Given the description of an element on the screen output the (x, y) to click on. 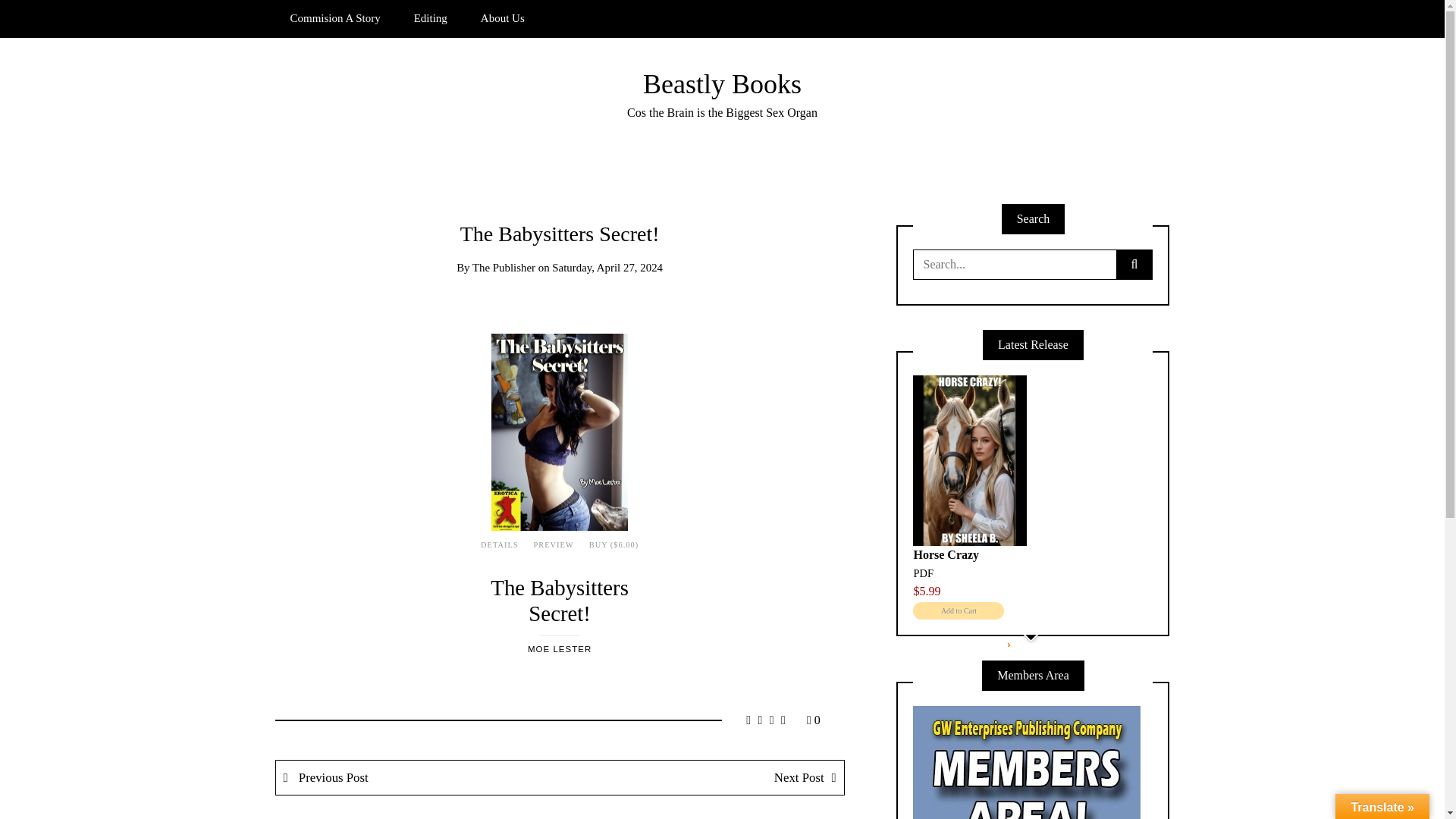
Saturday, April 27, 2024 (606, 267)
Add to Cart (958, 610)
The Publisher (503, 267)
Editing (430, 18)
About Us (502, 18)
0 (813, 719)
Beastly Books (722, 83)
Add to Cart (958, 610)
PREVIEW (553, 544)
Commision A Story (334, 18)
Previous Post (418, 777)
Posts by The Publisher (503, 267)
Horse Crazy (945, 554)
Next Post (701, 777)
PDF (922, 573)
